Given the description of an element on the screen output the (x, y) to click on. 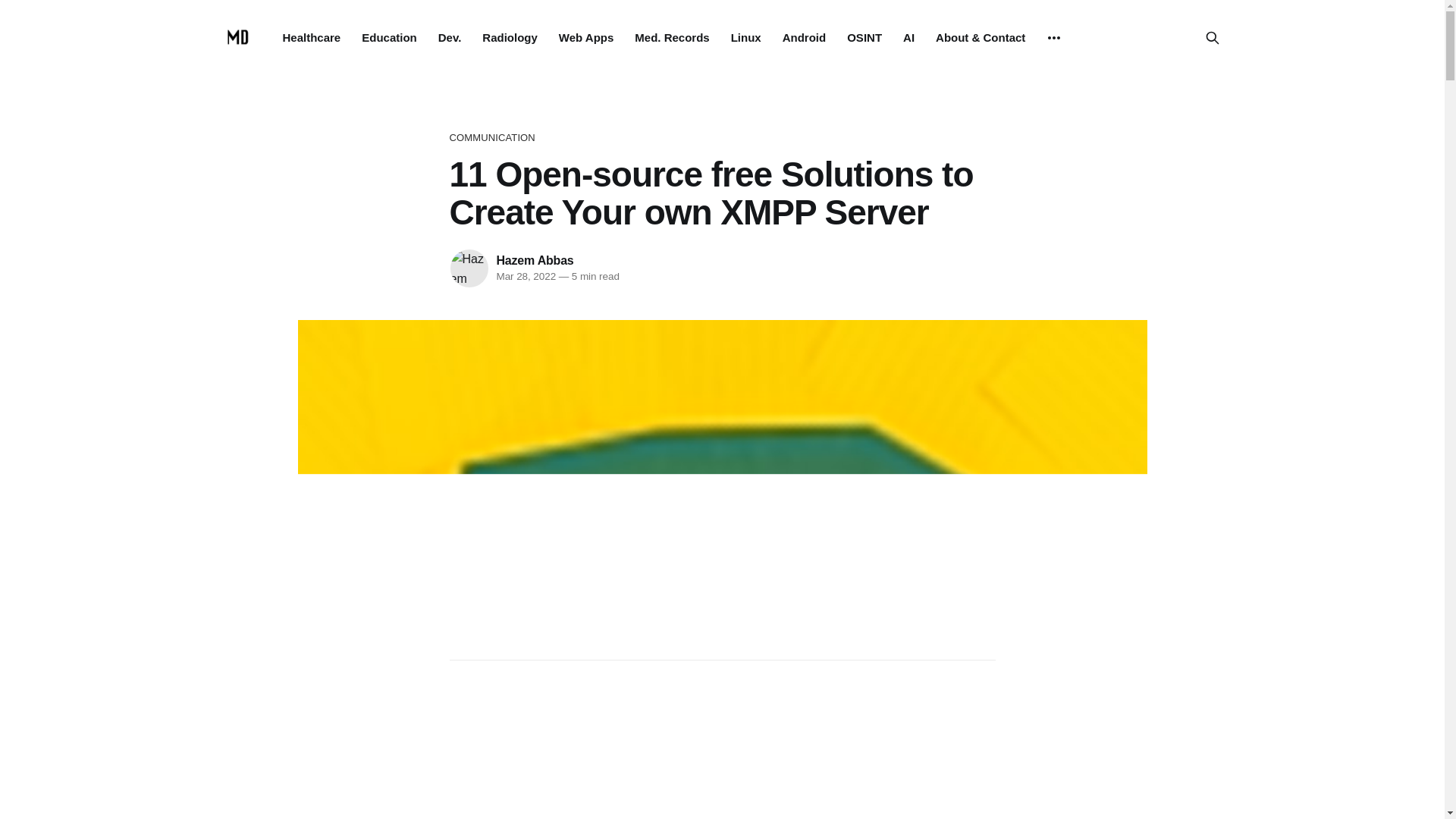
Education (388, 37)
COMMUNICATION (721, 138)
Hazem Abbas (534, 259)
Dev. (449, 37)
Med. Records (671, 37)
Web Apps (586, 37)
Radiology (509, 37)
Advertisement (721, 749)
Android (805, 37)
Linux (745, 37)
